Given the description of an element on the screen output the (x, y) to click on. 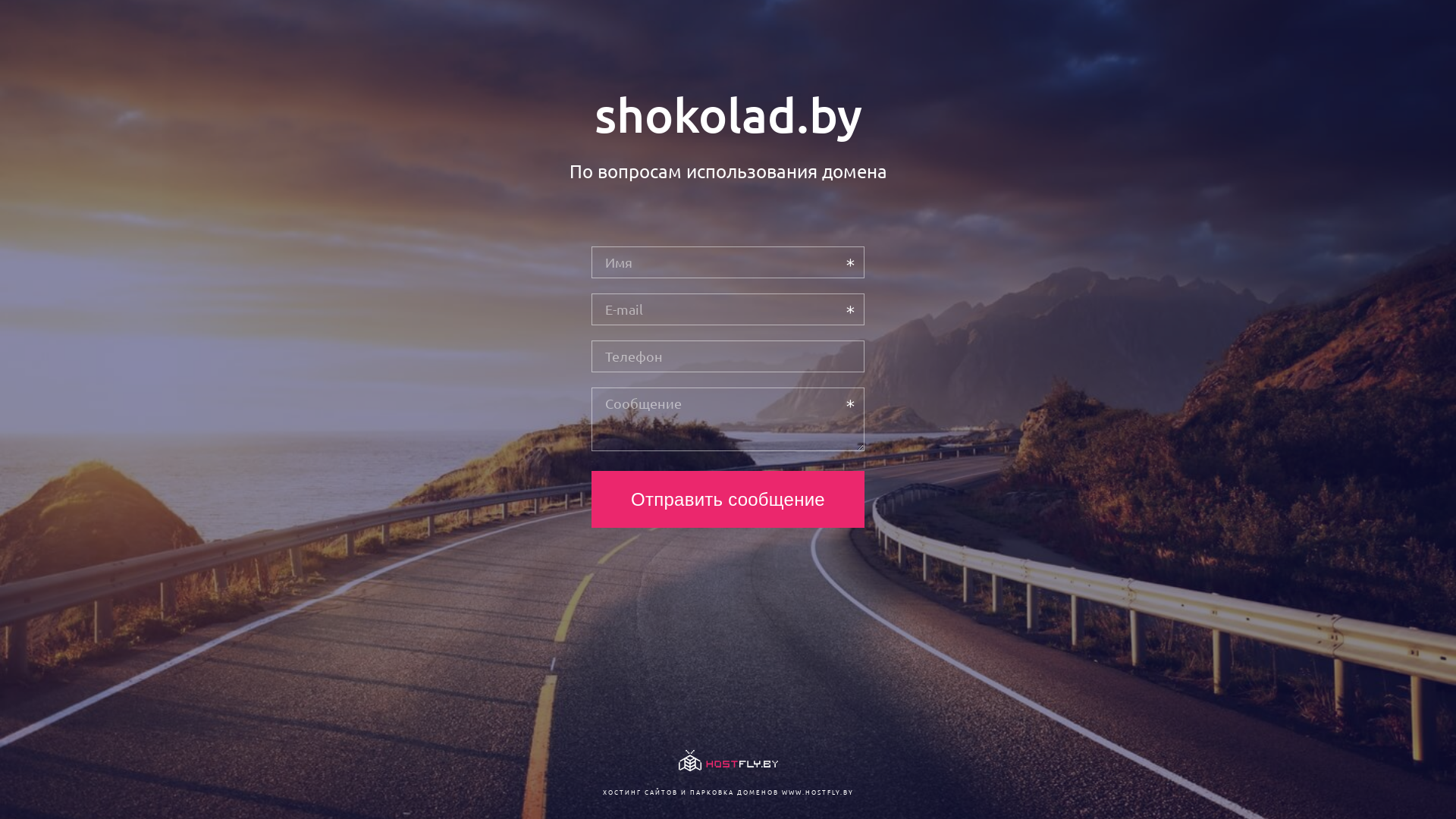
WWW.HOSTFLY.BY Element type: text (817, 791)
